Given the description of an element on the screen output the (x, y) to click on. 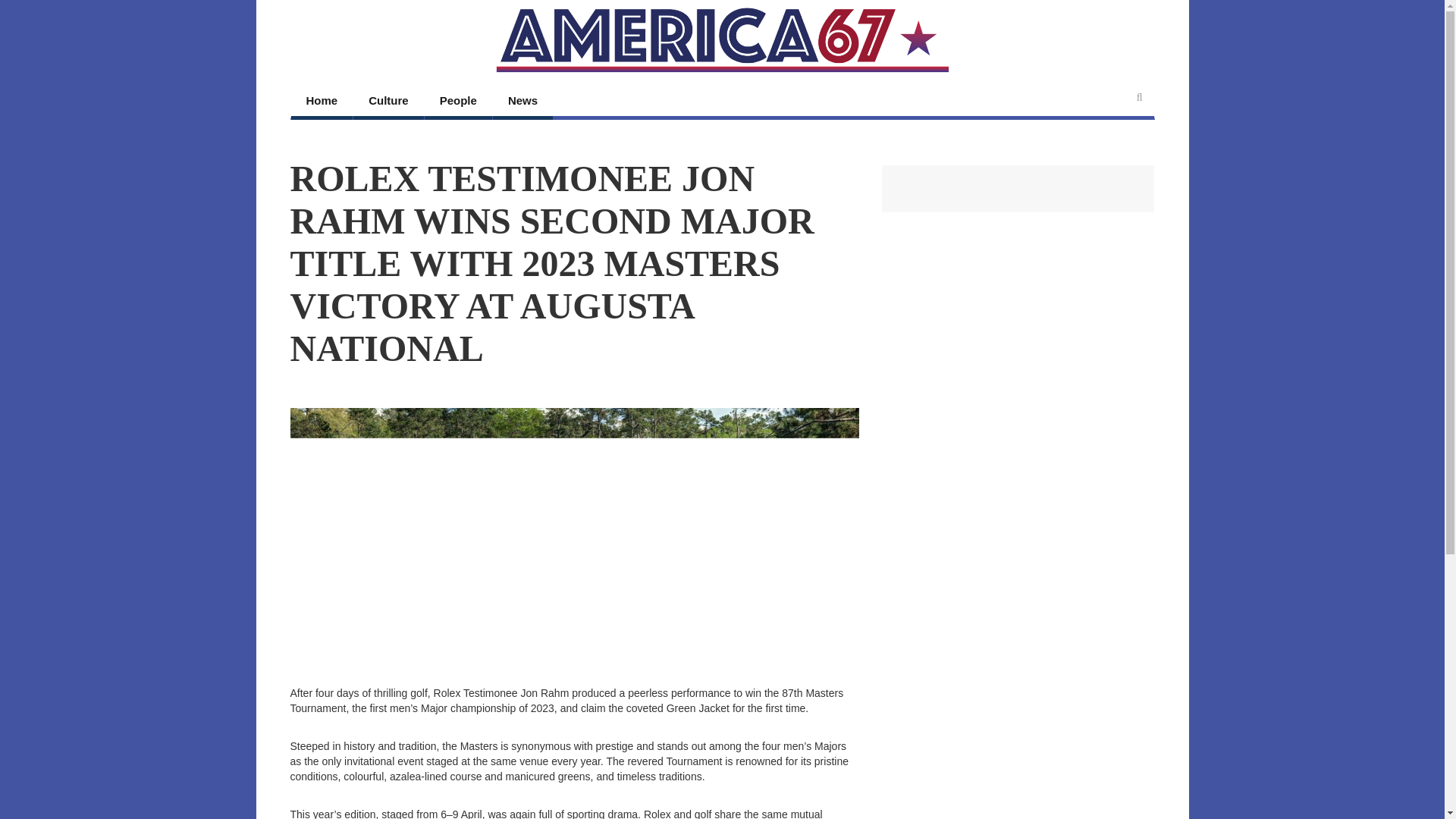
America67 (722, 39)
Culture (388, 102)
People (458, 102)
Home (322, 102)
News (523, 102)
